Given the description of an element on the screen output the (x, y) to click on. 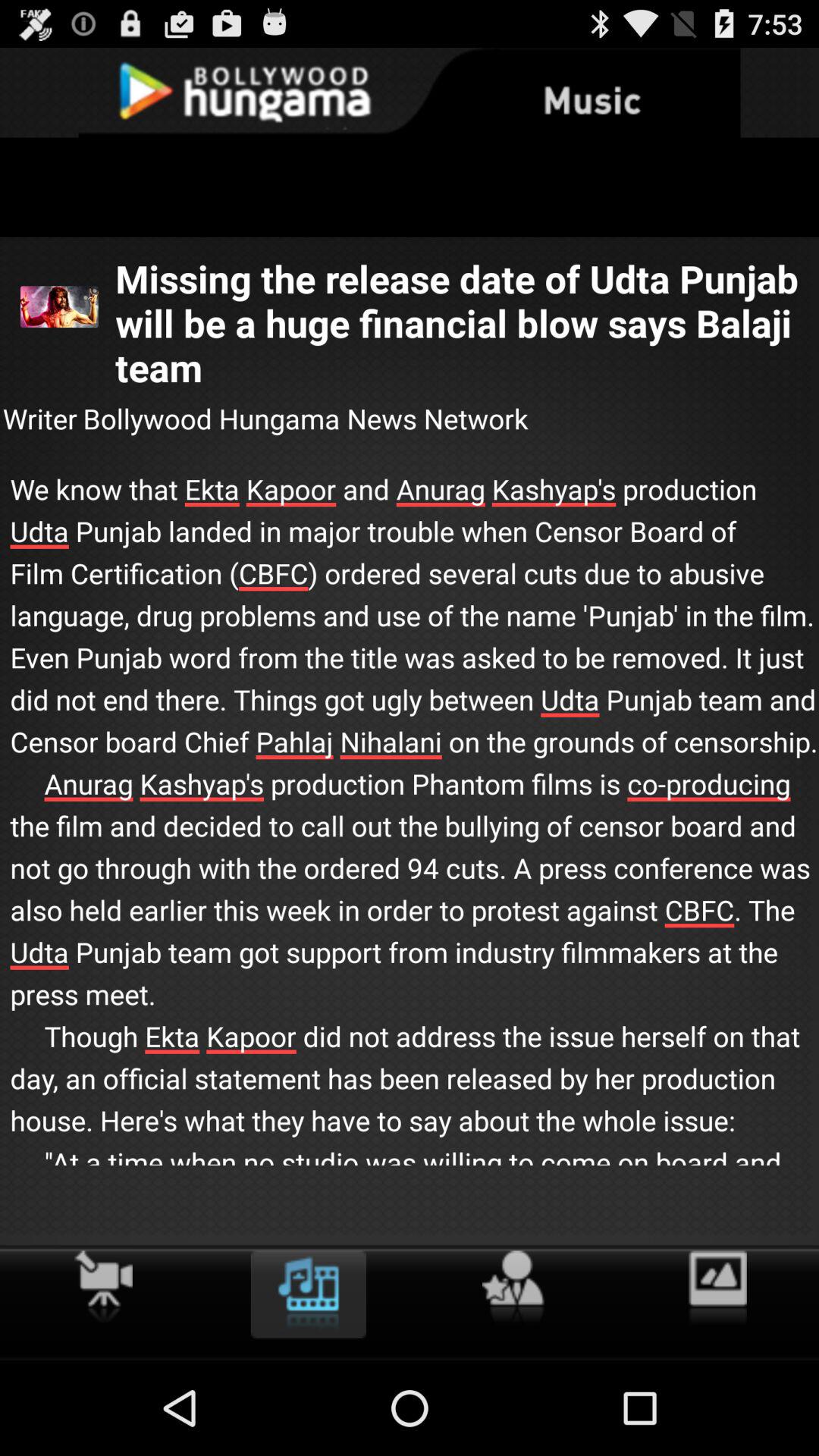
turn on we know that (409, 842)
